Given the description of an element on the screen output the (x, y) to click on. 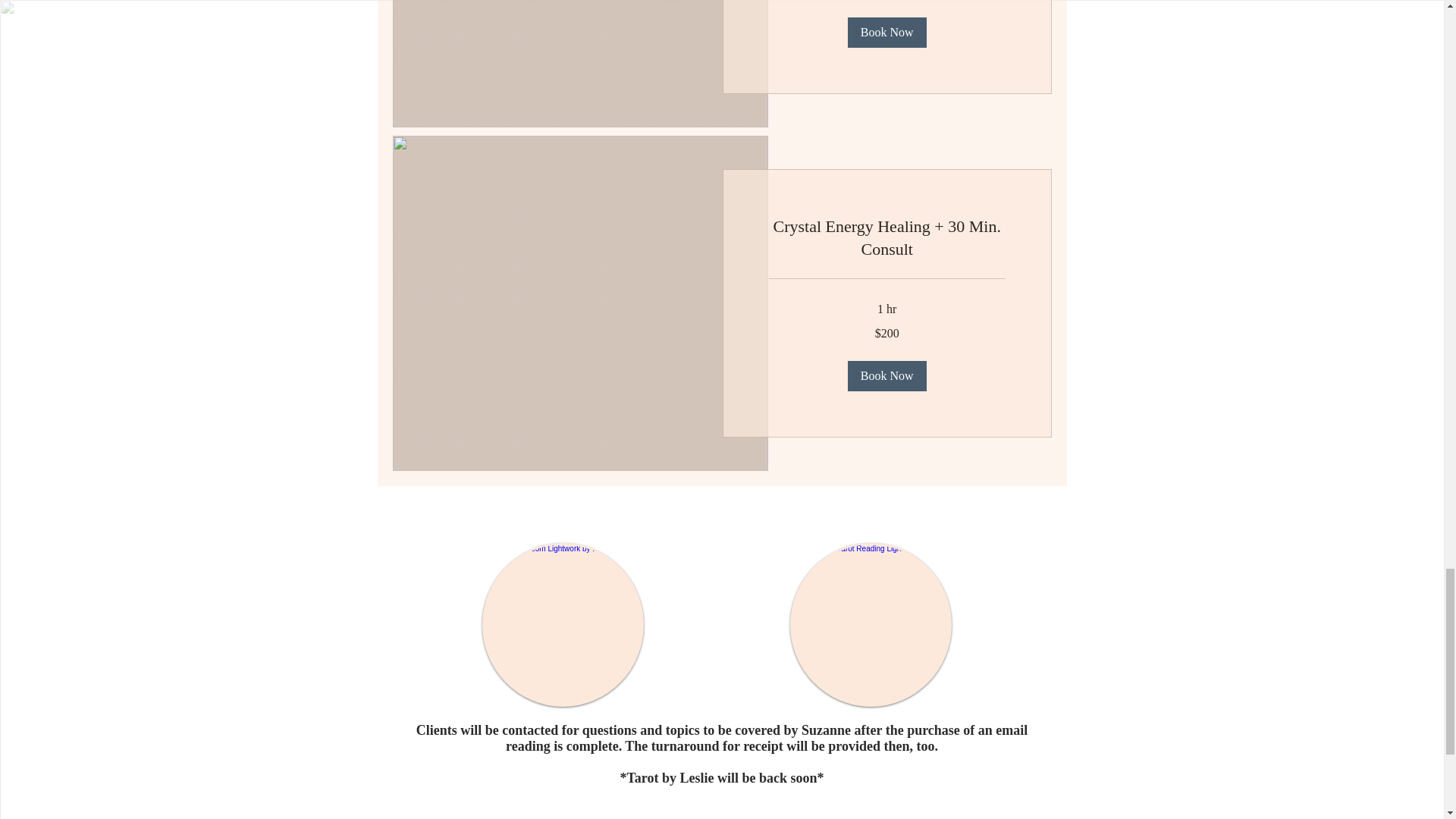
Book Now (886, 32)
Gift Certificate (562, 624)
Book Now (886, 376)
Emailed Tarot Reading (871, 624)
